Given the description of an element on the screen output the (x, y) to click on. 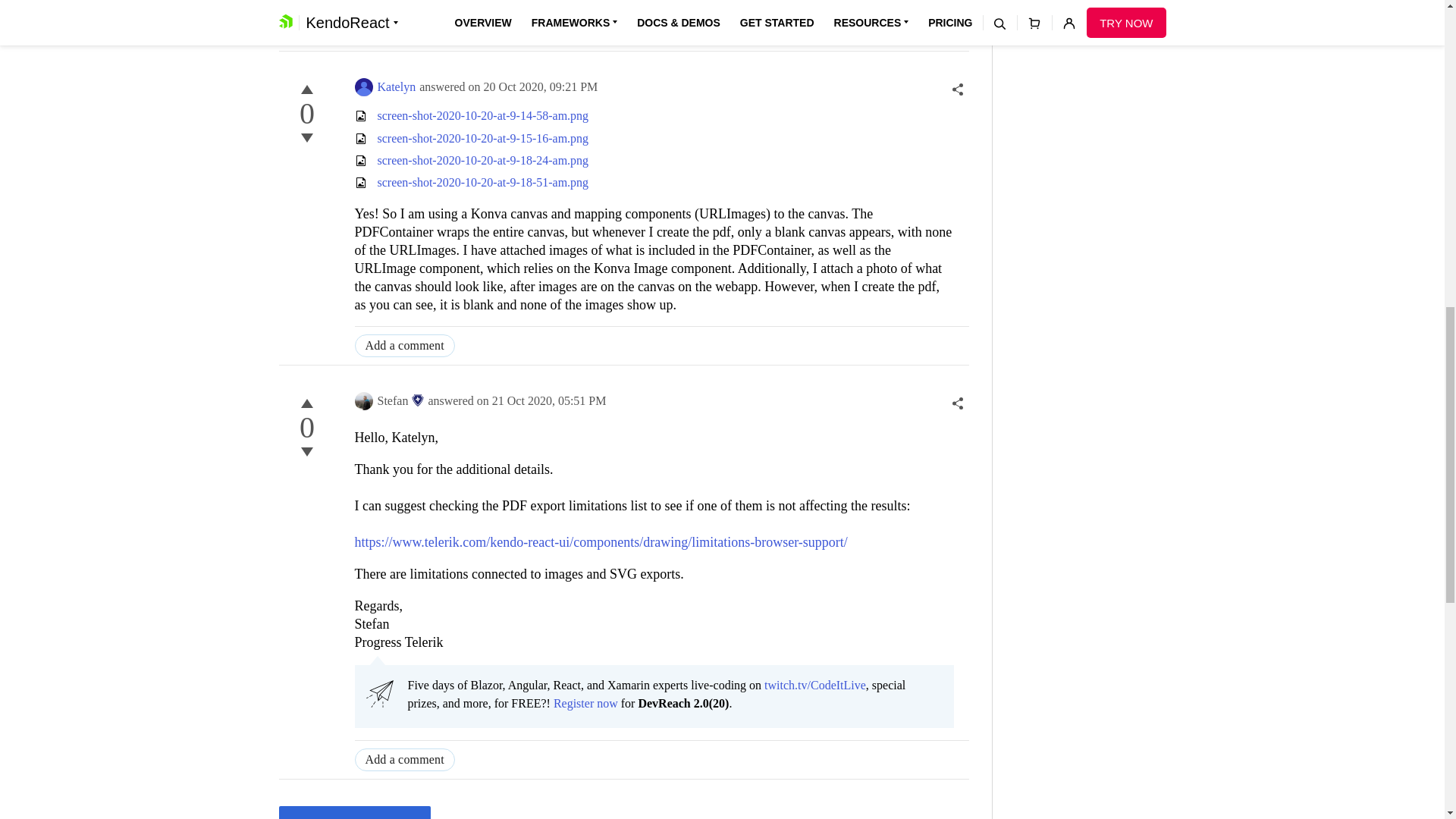
This answer is helpful. (306, 403)
This answer is not helpful. (306, 451)
This answer is not helpful. (306, 137)
This answer is helpful. (306, 88)
